Given the description of an element on the screen output the (x, y) to click on. 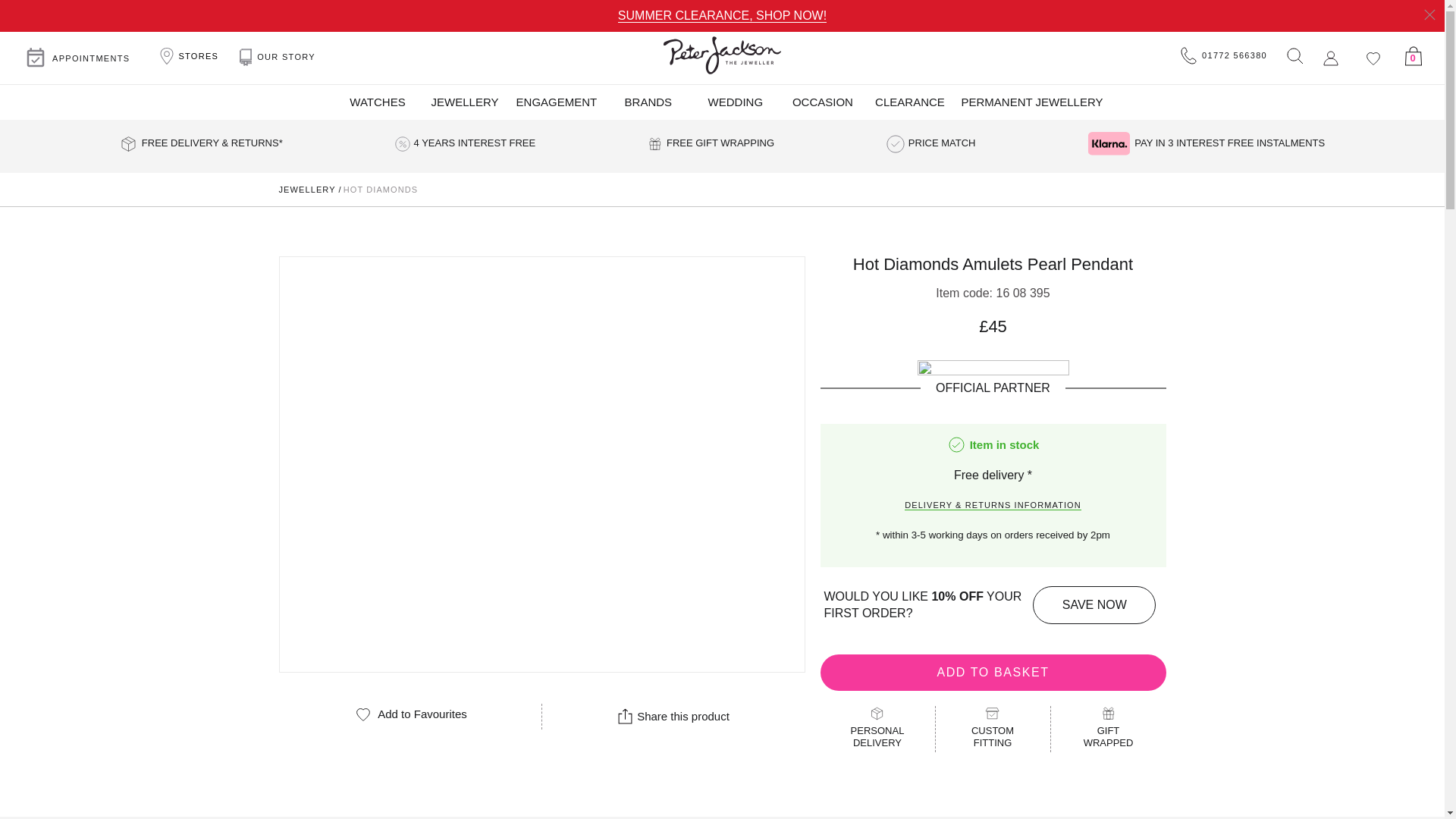
SUMMER CLEARANCE, SHOP NOW! (722, 15)
APPOINTMENTS (76, 57)
SEARCH (1294, 55)
ACCOUNT (1330, 58)
01772 566380 (1223, 56)
OUR STORY (277, 57)
STORES (186, 55)
WATCHES (376, 102)
